Given the description of an element on the screen output the (x, y) to click on. 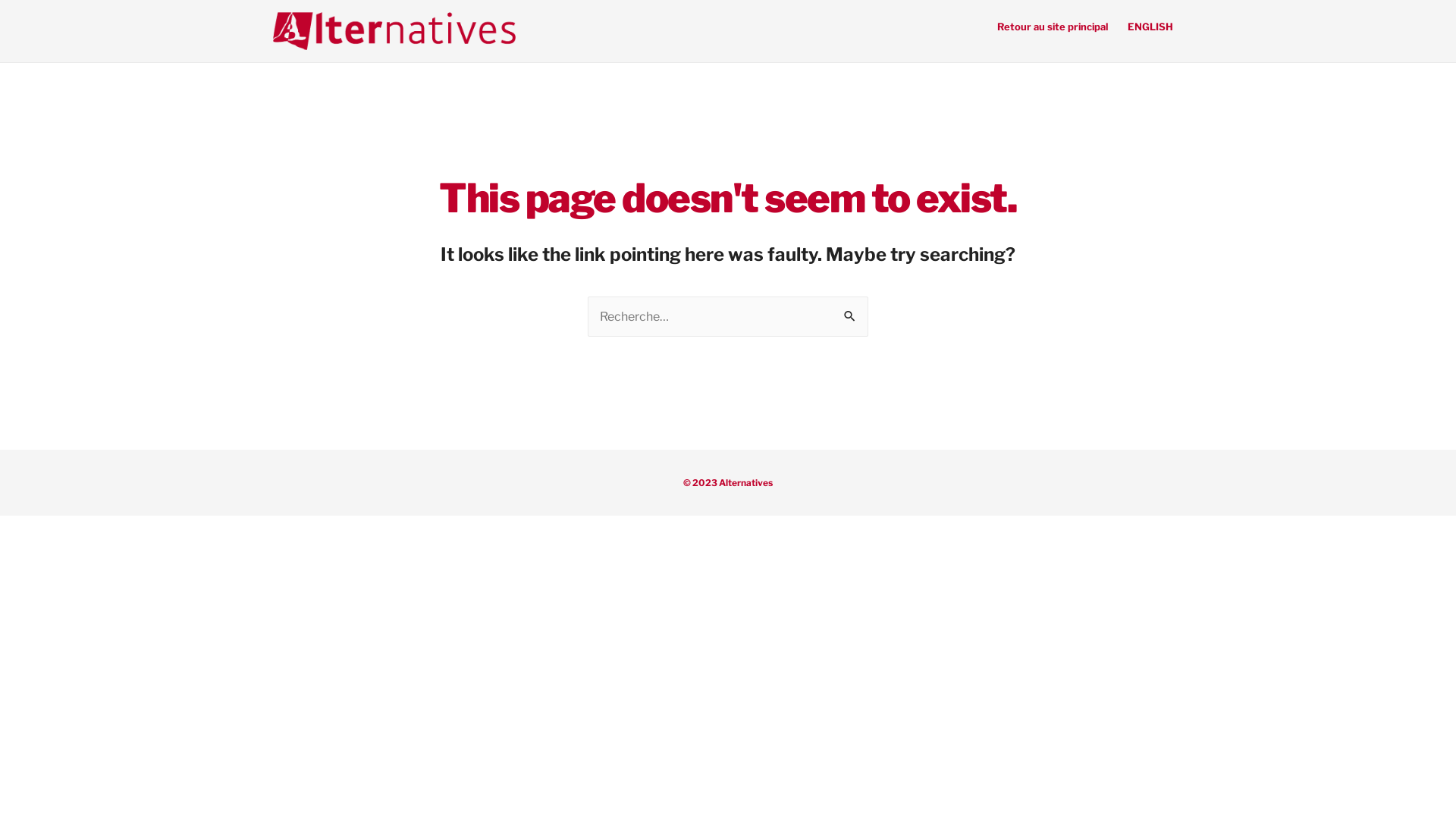
ENGLISH Element type: text (1150, 26)
Rechercher Element type: text (851, 317)
Retour au site principal Element type: text (1052, 26)
